Given the description of an element on the screen output the (x, y) to click on. 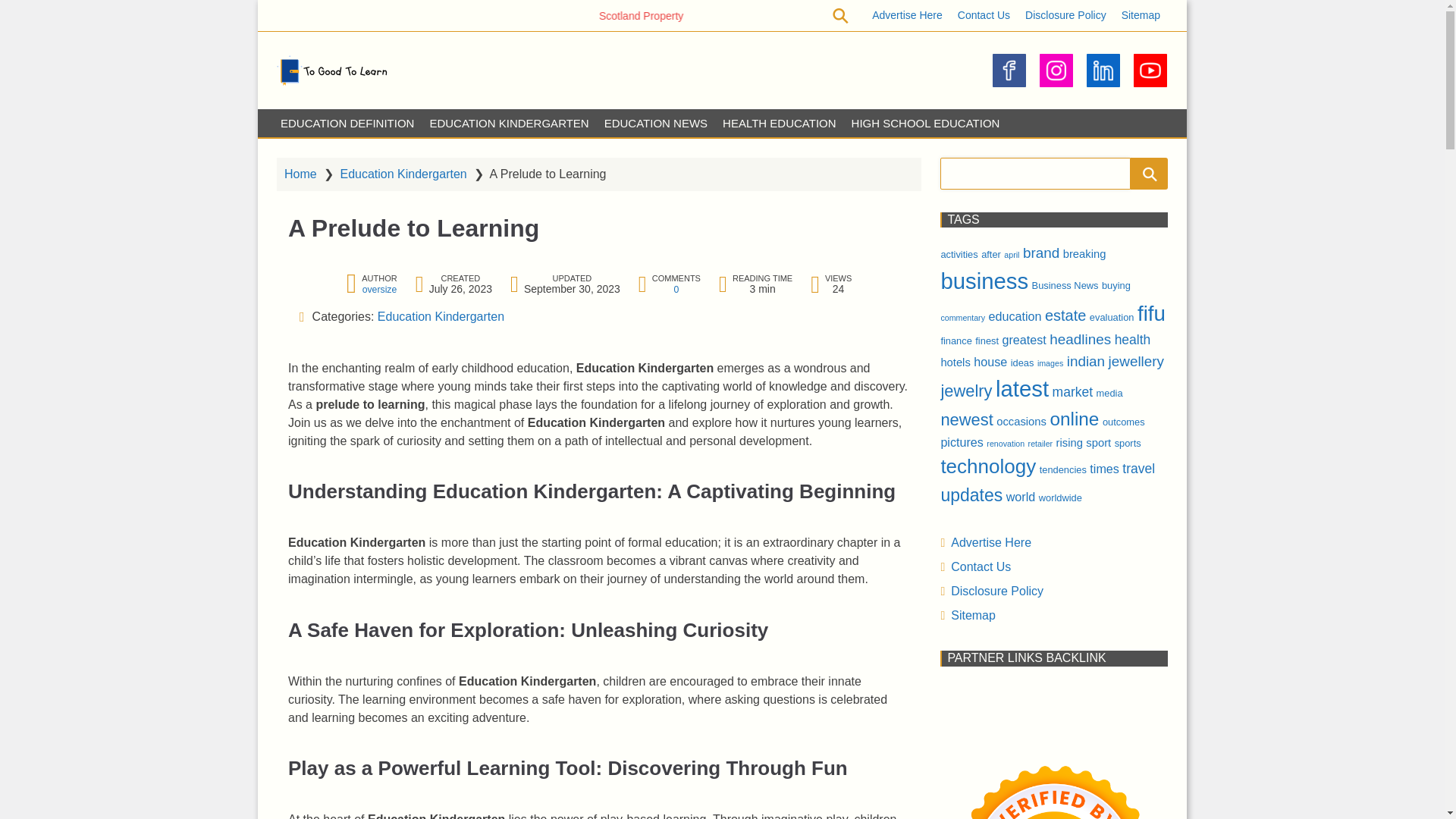
Home (300, 173)
Scotland Property (703, 15)
Sitemap (1140, 15)
Scotland Property (737, 15)
HIGH SCHOOL EDUCATION (925, 122)
oversize (379, 288)
HEALTH EDUCATION (778, 122)
EDUCATION KINDERGARTEN (508, 122)
Contact Us (983, 15)
Education Kindergarten (440, 315)
